Given the description of an element on the screen output the (x, y) to click on. 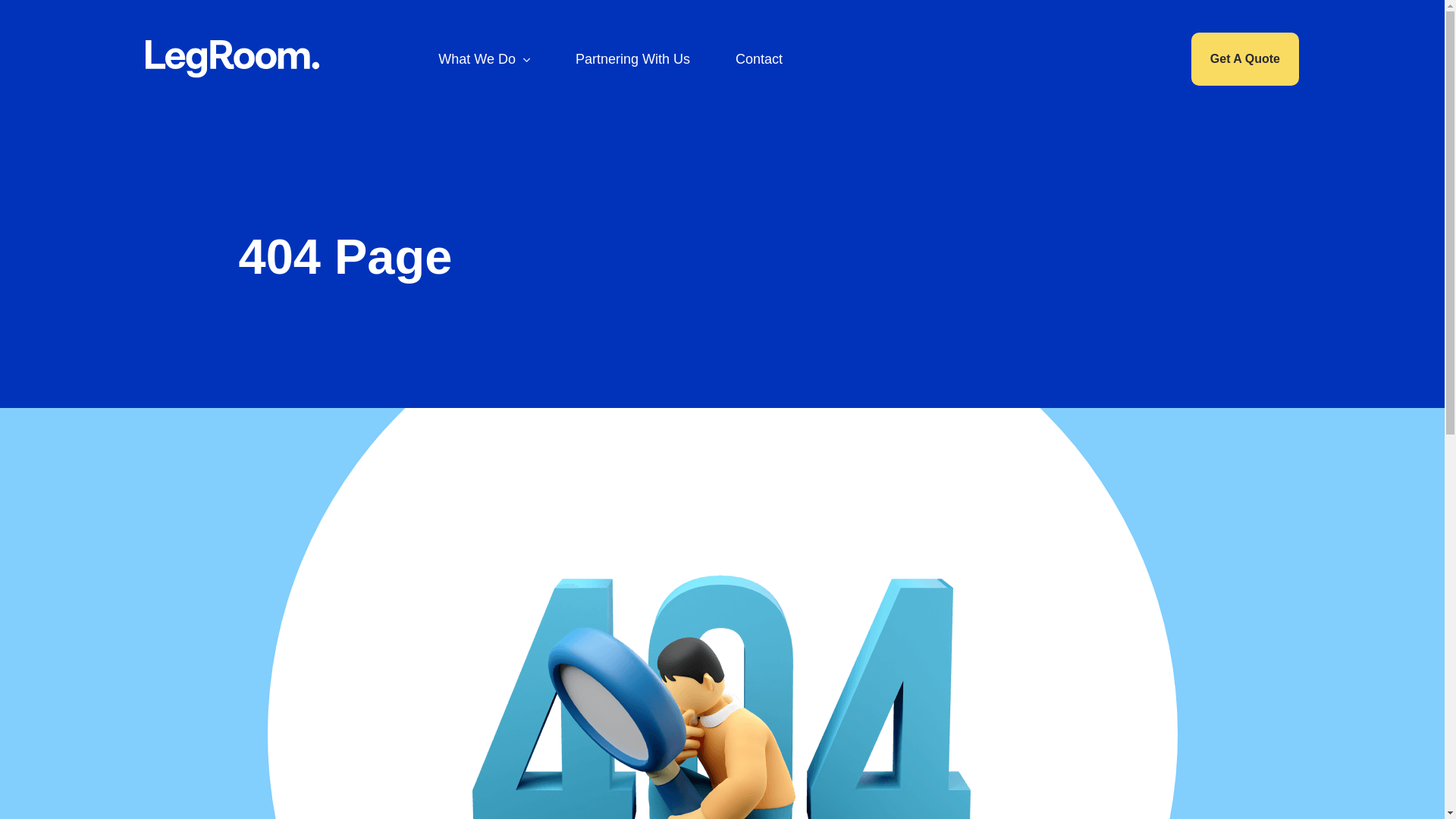
Partnering With Us Element type: text (632, 58)
What We Do Element type: text (484, 58)
Contact Element type: text (758, 58)
Get A Quote Element type: text (1245, 58)
